Given the description of an element on the screen output the (x, y) to click on. 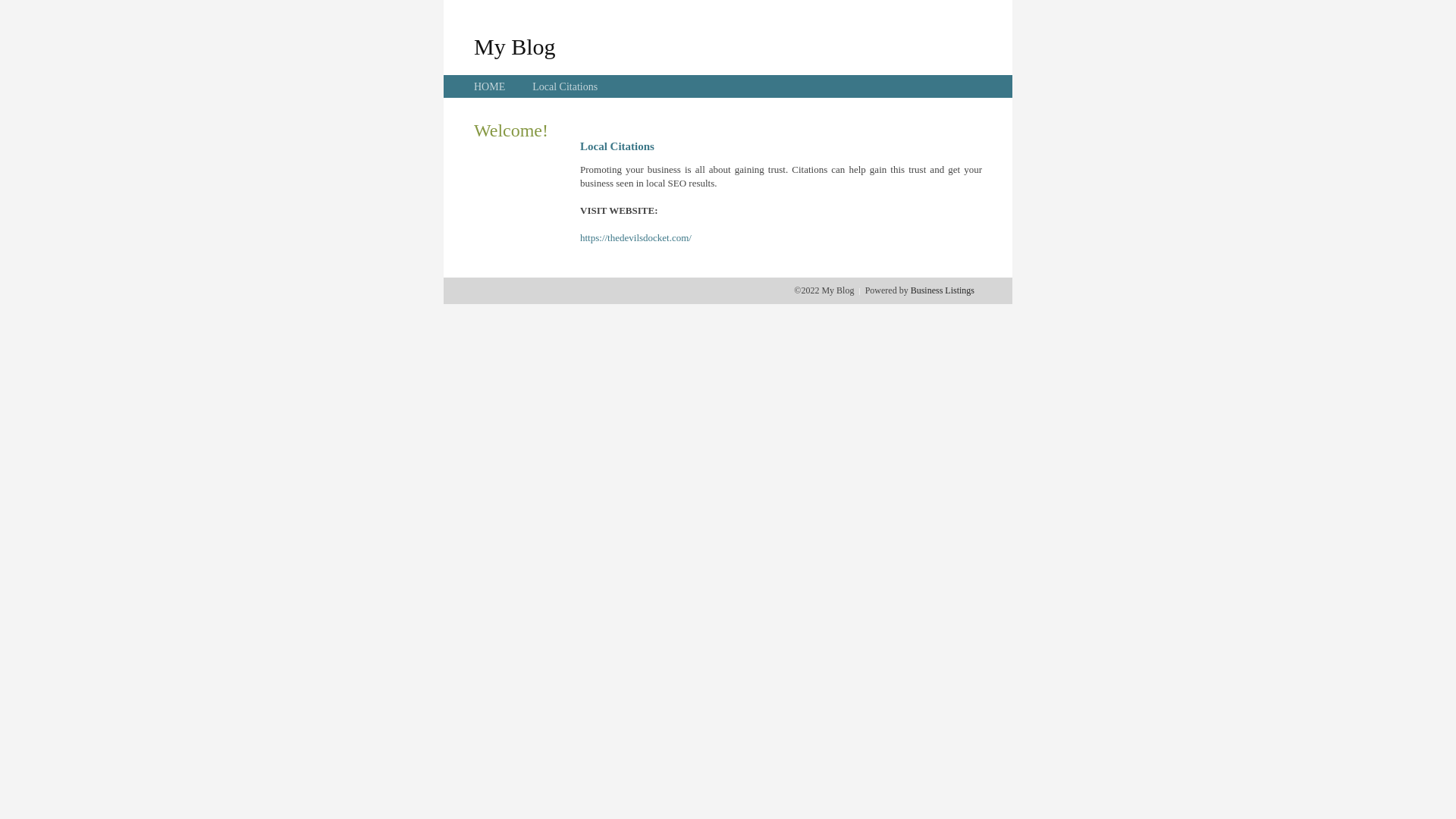
Business Listings Element type: text (942, 290)
HOME Element type: text (489, 86)
My Blog Element type: text (514, 46)
https://thedevilsdocket.com/ Element type: text (635, 237)
Local Citations Element type: text (564, 86)
